Given the description of an element on the screen output the (x, y) to click on. 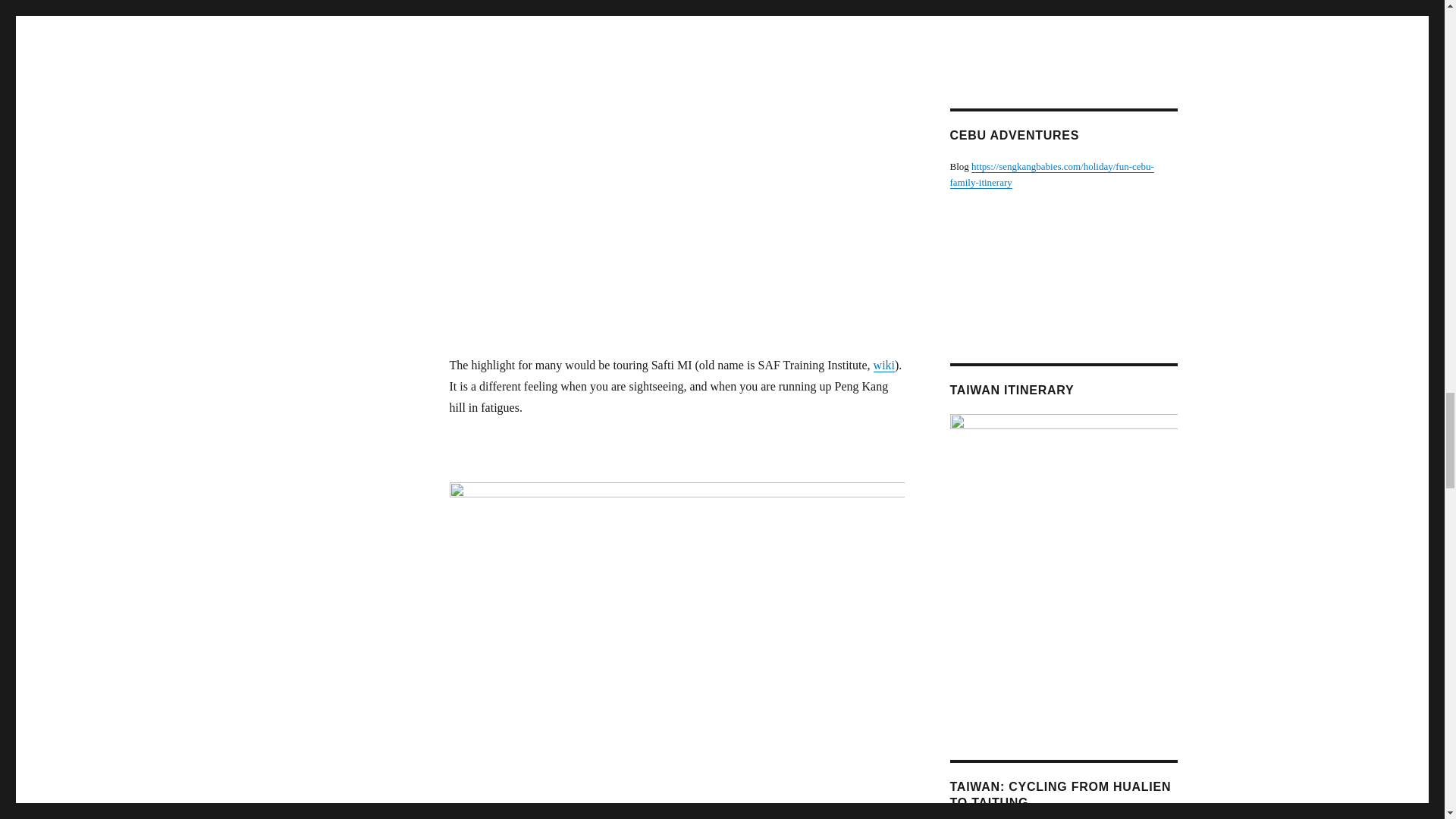
wiki (884, 364)
